Given the description of an element on the screen output the (x, y) to click on. 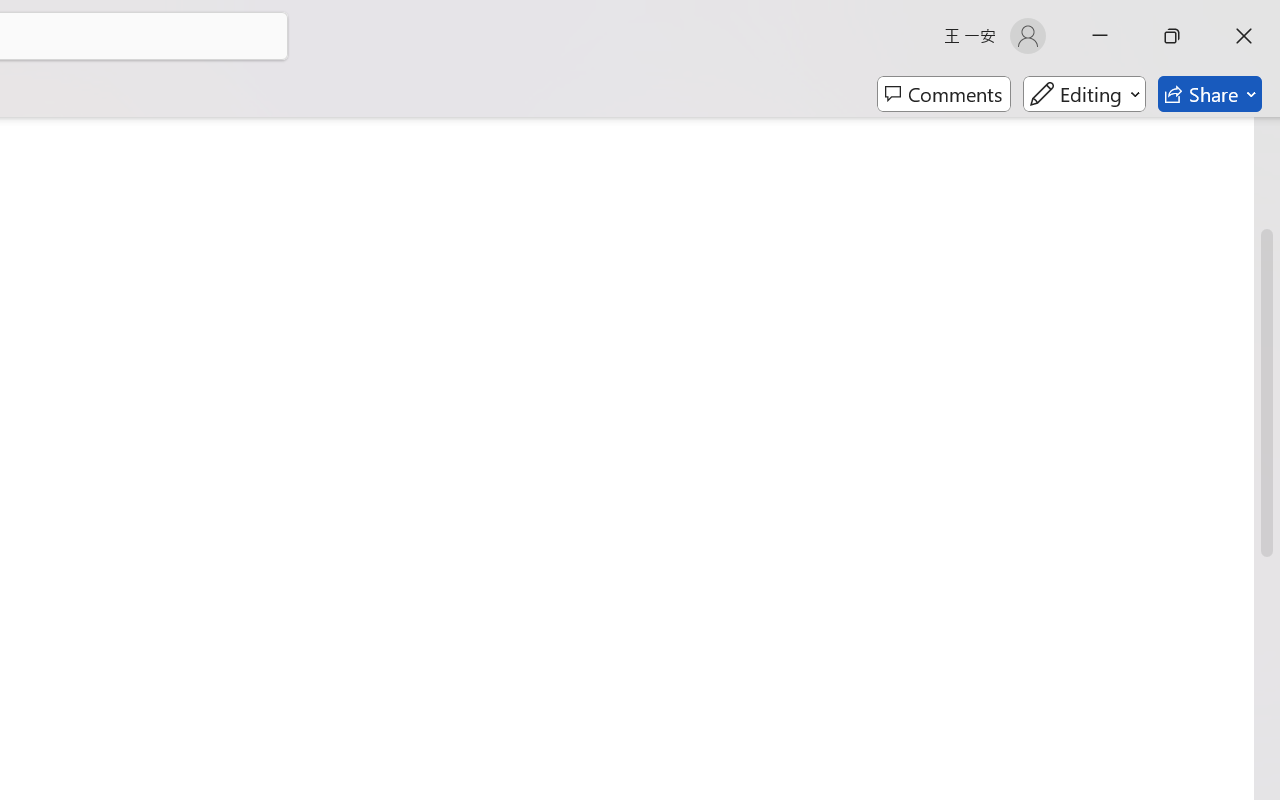
Mode (1083, 94)
Minimize (1099, 36)
Close (1244, 36)
Comments (943, 94)
Share (1210, 94)
Restore Down (1172, 36)
